Given the description of an element on the screen output the (x, y) to click on. 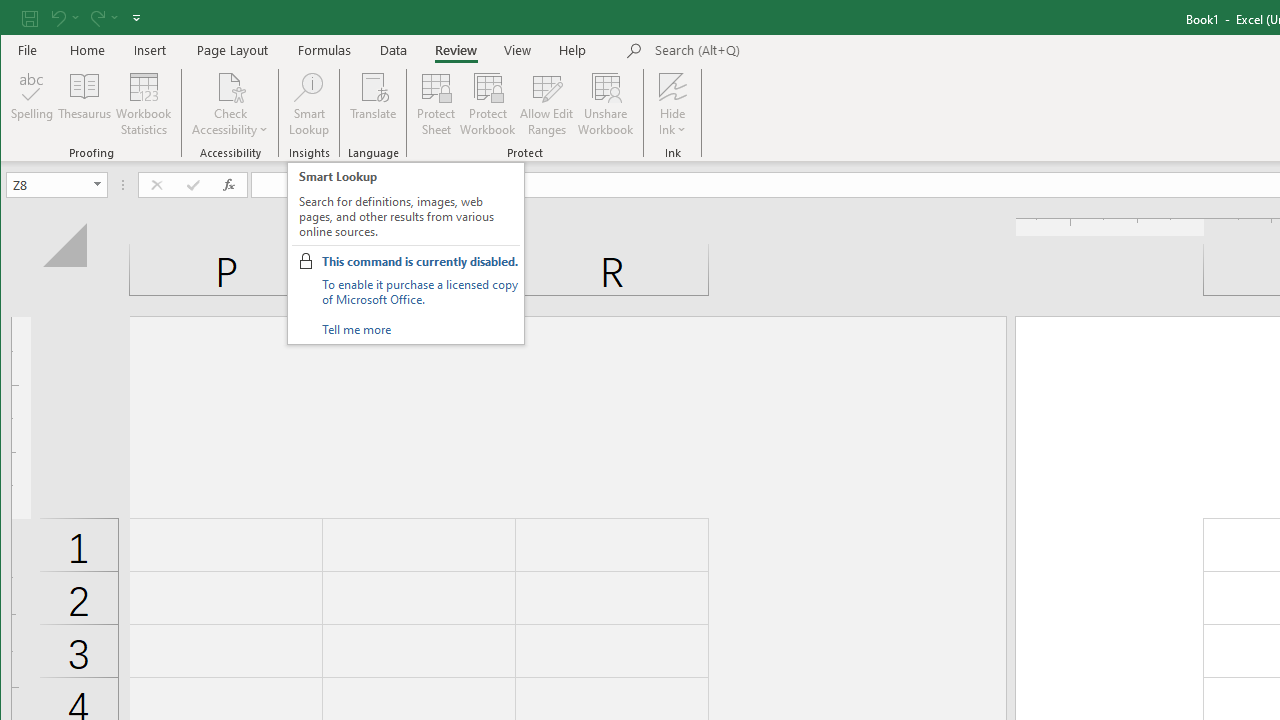
Allow Edit Ranges (547, 104)
Formulas (325, 50)
Hide Ink (672, 104)
Class: NetUIImage (305, 260)
Microsoft search (794, 51)
Save (29, 17)
Open (98, 184)
Customize Quick Access Toolbar (136, 17)
